Given the description of an element on the screen output the (x, y) to click on. 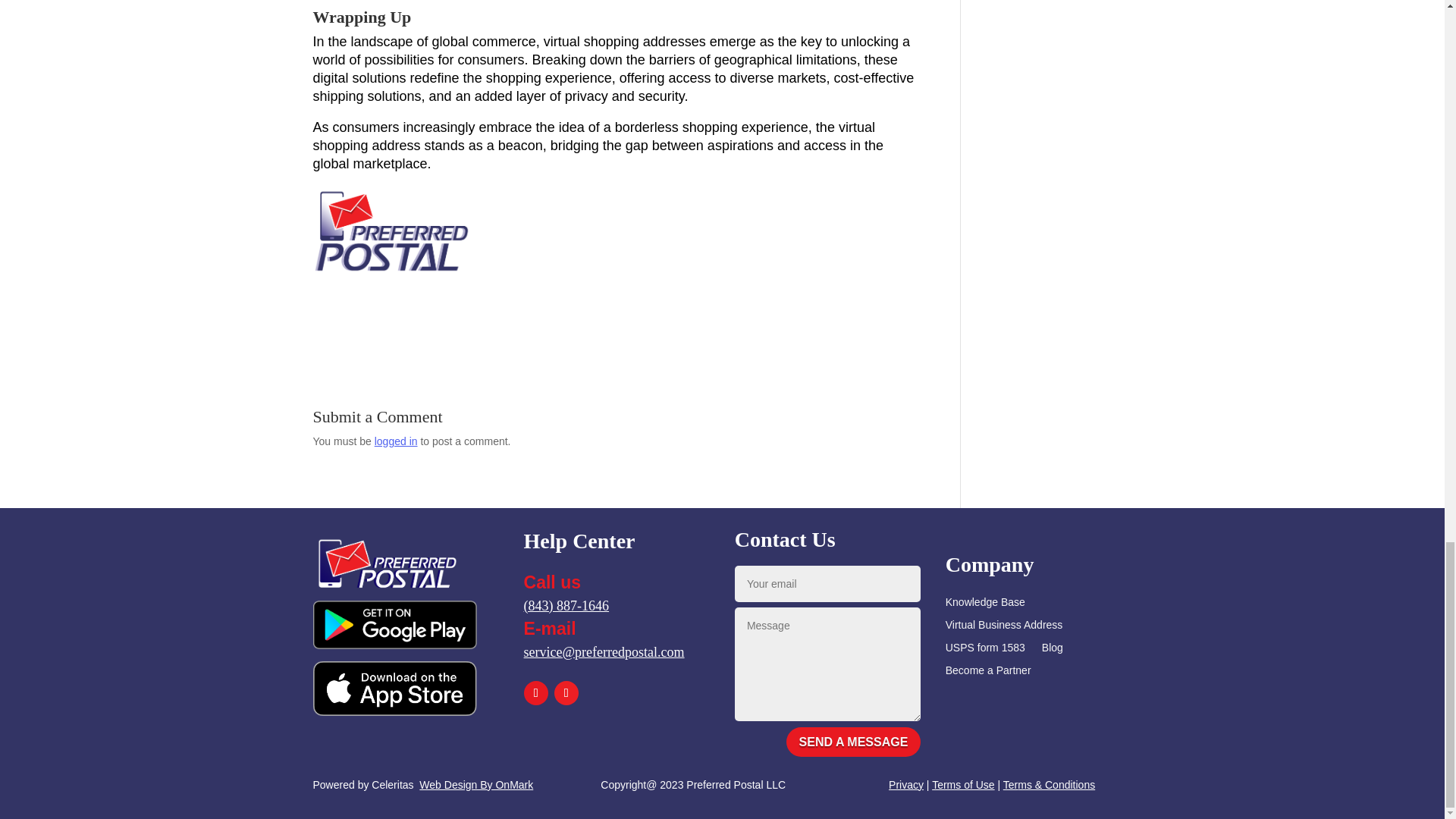
USPS form 1583 (984, 650)
Follow on Facebook (536, 692)
Blog (1052, 650)
Privacy Policy (905, 784)
inbox logo1 (387, 559)
Knowledge Base (984, 605)
Follow on Youtube (566, 692)
Virtual Business Address (1003, 627)
SEND A MESSAGE (853, 741)
logged in (395, 440)
Apple Store (394, 687)
Google Play Store (394, 625)
